Given the description of an element on the screen output the (x, y) to click on. 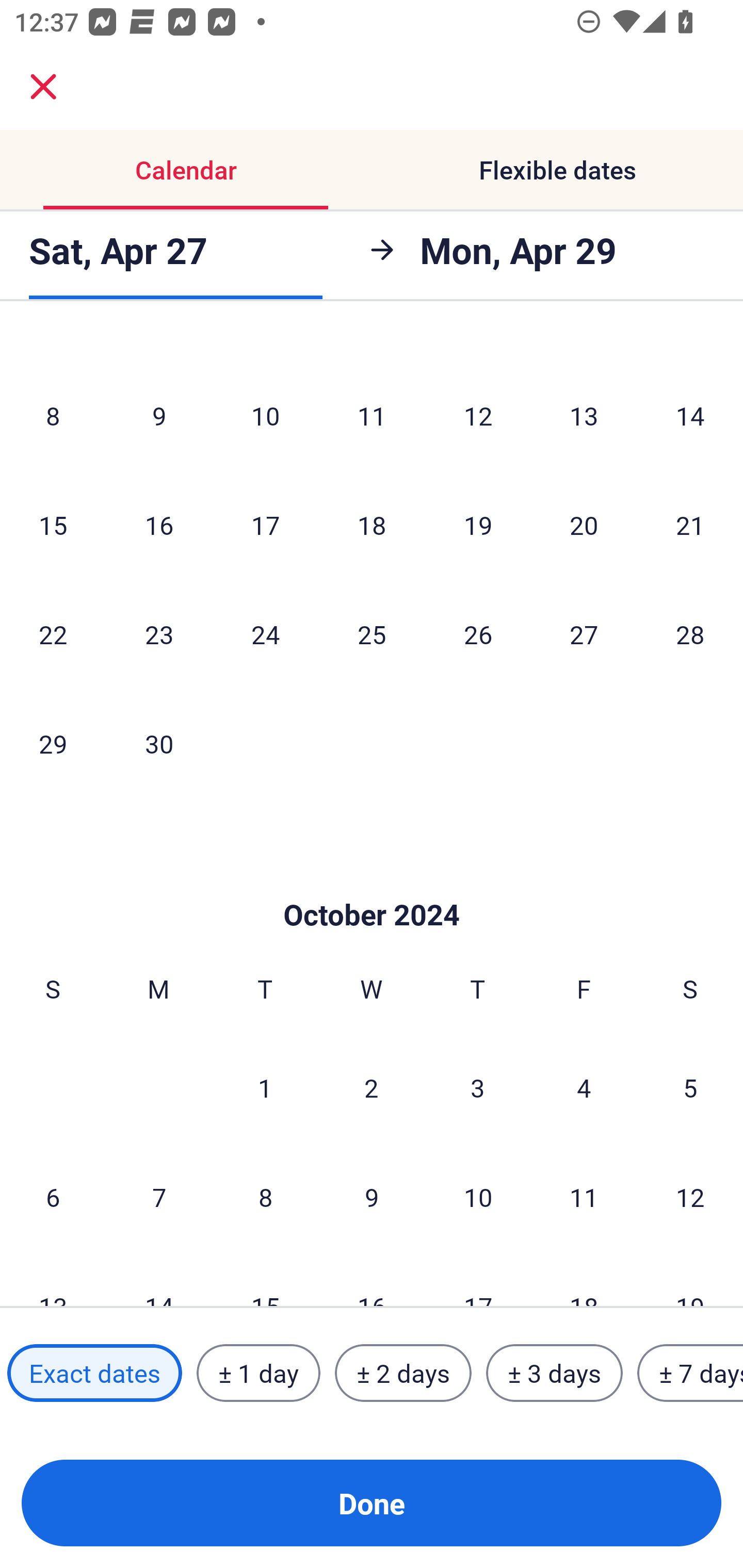
close. (43, 86)
Flexible dates (557, 170)
8 Sunday, September 8, 2024 (53, 415)
9 Monday, September 9, 2024 (159, 415)
10 Tuesday, September 10, 2024 (265, 415)
11 Wednesday, September 11, 2024 (371, 415)
12 Thursday, September 12, 2024 (477, 415)
13 Friday, September 13, 2024 (584, 415)
14 Saturday, September 14, 2024 (690, 415)
15 Sunday, September 15, 2024 (53, 524)
16 Monday, September 16, 2024 (159, 524)
17 Tuesday, September 17, 2024 (265, 524)
18 Wednesday, September 18, 2024 (371, 524)
19 Thursday, September 19, 2024 (477, 524)
20 Friday, September 20, 2024 (584, 524)
21 Saturday, September 21, 2024 (690, 524)
22 Sunday, September 22, 2024 (53, 633)
23 Monday, September 23, 2024 (159, 633)
24 Tuesday, September 24, 2024 (265, 633)
25 Wednesday, September 25, 2024 (371, 633)
26 Thursday, September 26, 2024 (477, 633)
27 Friday, September 27, 2024 (584, 633)
28 Saturday, September 28, 2024 (690, 633)
29 Sunday, September 29, 2024 (53, 742)
30 Monday, September 30, 2024 (159, 742)
Skip to Done (371, 883)
1 Tuesday, October 1, 2024 (264, 1086)
2 Wednesday, October 2, 2024 (371, 1086)
3 Thursday, October 3, 2024 (477, 1086)
4 Friday, October 4, 2024 (584, 1086)
5 Saturday, October 5, 2024 (690, 1086)
6 Sunday, October 6, 2024 (53, 1196)
7 Monday, October 7, 2024 (159, 1196)
8 Tuesday, October 8, 2024 (265, 1196)
9 Wednesday, October 9, 2024 (371, 1196)
10 Thursday, October 10, 2024 (477, 1196)
11 Friday, October 11, 2024 (584, 1196)
12 Saturday, October 12, 2024 (690, 1196)
Exact dates (94, 1372)
± 1 day (258, 1372)
± 2 days (403, 1372)
± 3 days (553, 1372)
± 7 days (690, 1372)
Done (371, 1502)
